Given the description of an element on the screen output the (x, y) to click on. 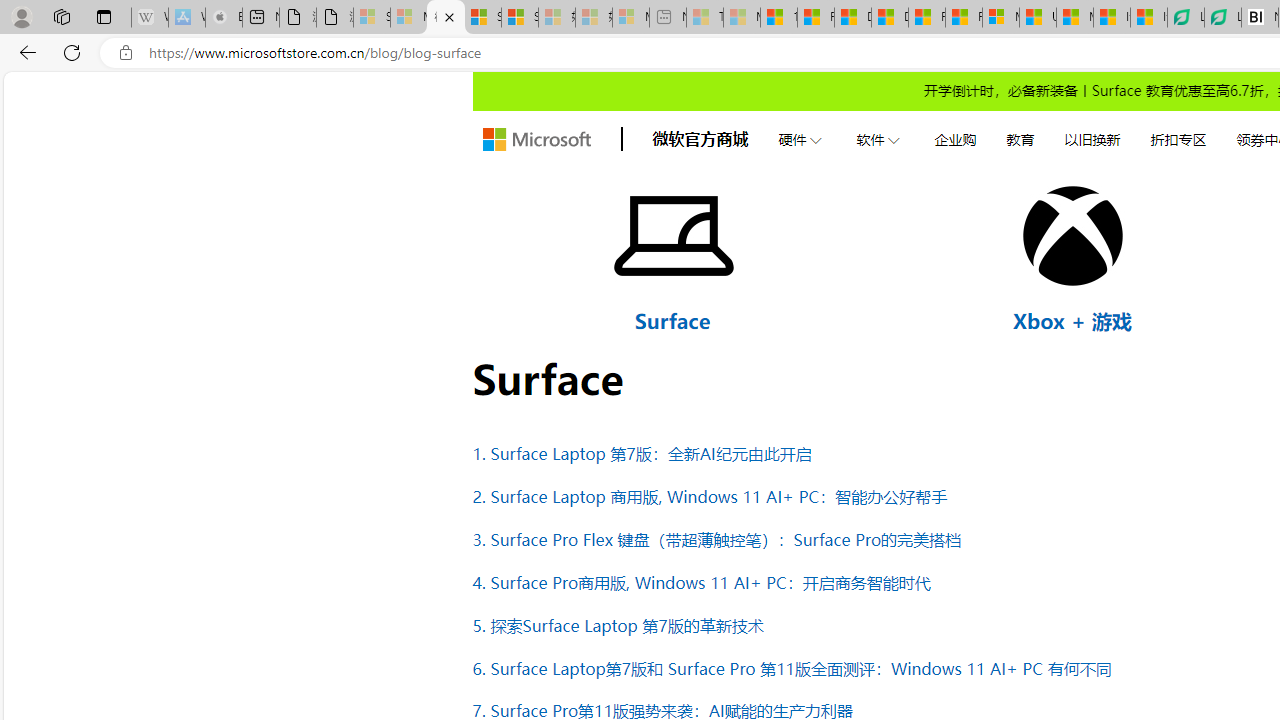
Foo BAR | Trusted Community Engagement and Contributions (963, 17)
Microsoft (536, 139)
Top Stories - MSN - Sleeping (705, 17)
Surface (671, 320)
LendingTree - Compare Lenders (1222, 17)
store logo (536, 139)
Microsoft account | Account Checkup - Sleeping (630, 17)
